Given the description of an element on the screen output the (x, y) to click on. 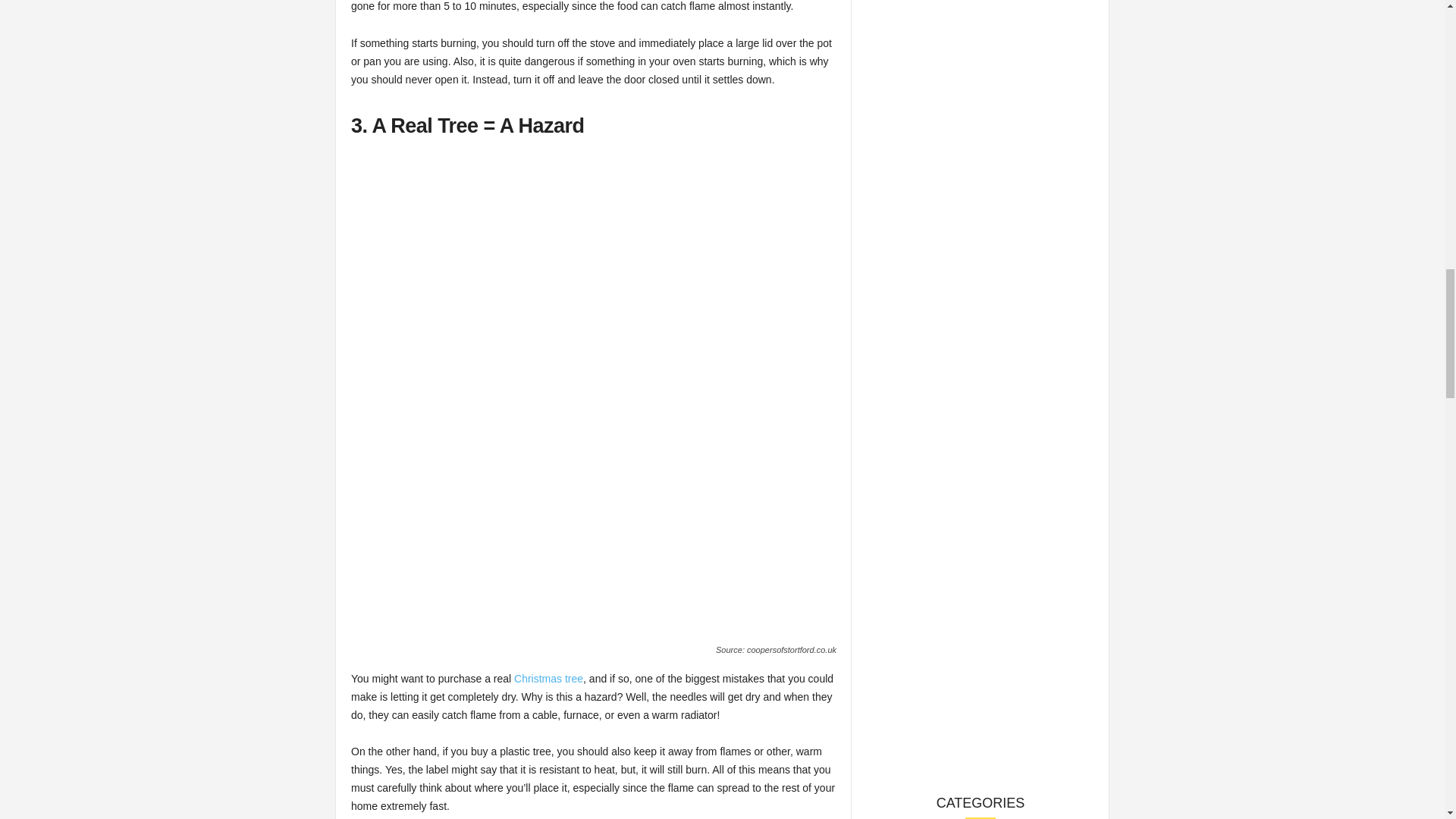
Christmas tree (548, 678)
